Given the description of an element on the screen output the (x, y) to click on. 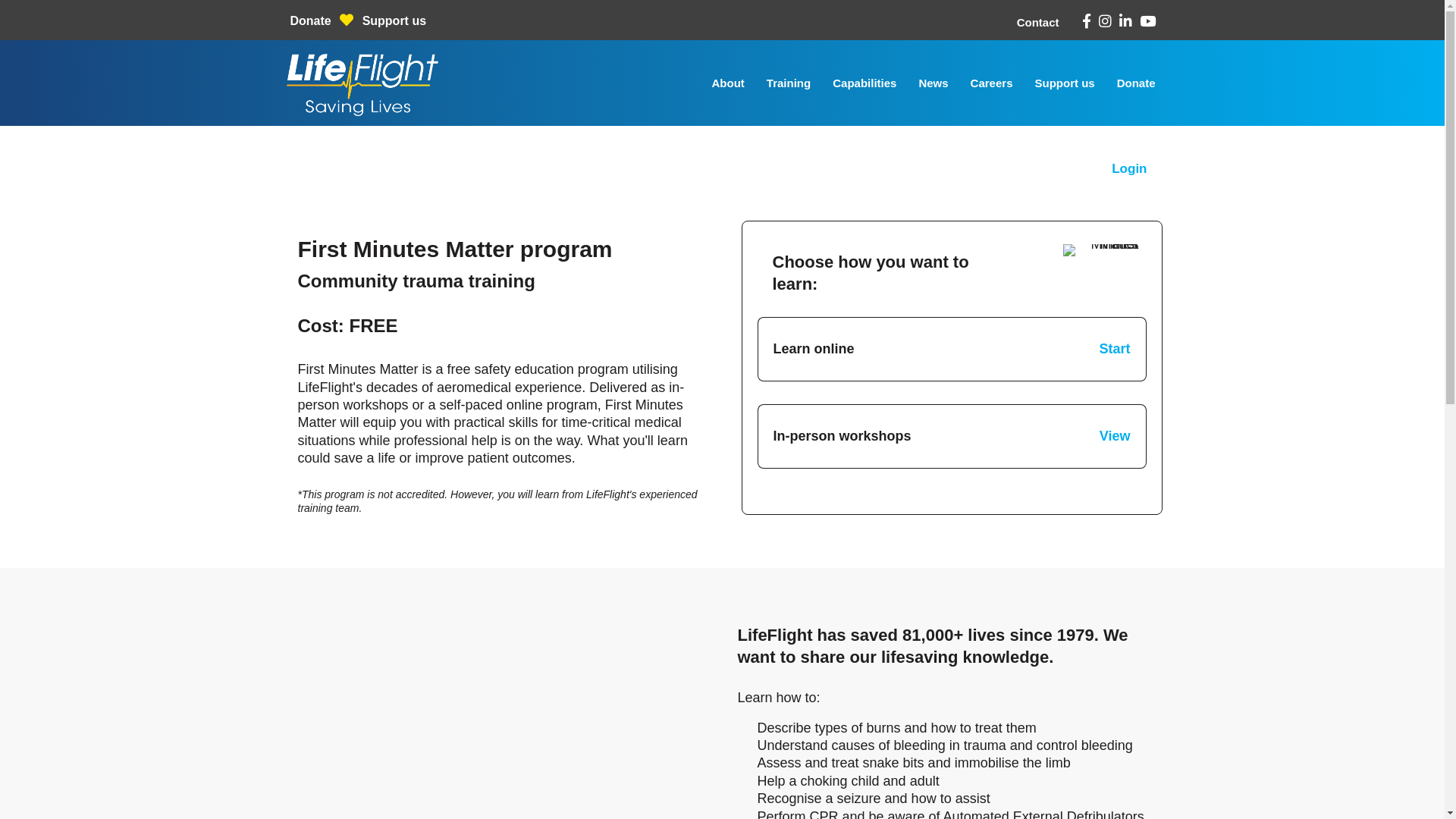
FMM-logo-500 Element type: hover (1101, 250)
Capabilities Element type: text (864, 82)
News Element type: text (932, 82)
Training Element type: text (788, 82)
Support us Element type: text (1063, 82)
Careers Element type: text (991, 82)
Donate Element type: text (311, 20)
Donate Element type: text (1136, 82)
Follow on LinkedIn Element type: text (1125, 21)
Contact Element type: text (1037, 21)
Start Element type: text (1114, 348)
Support us Element type: text (394, 20)
About Element type: text (728, 82)
View Element type: text (1114, 436)
Login Element type: text (1129, 168)
Follow on Instagram Element type: text (1104, 21)
Follow on YouTube Element type: text (1146, 21)
Follow on Facebook Element type: text (1085, 21)
